Given the description of an element on the screen output the (x, y) to click on. 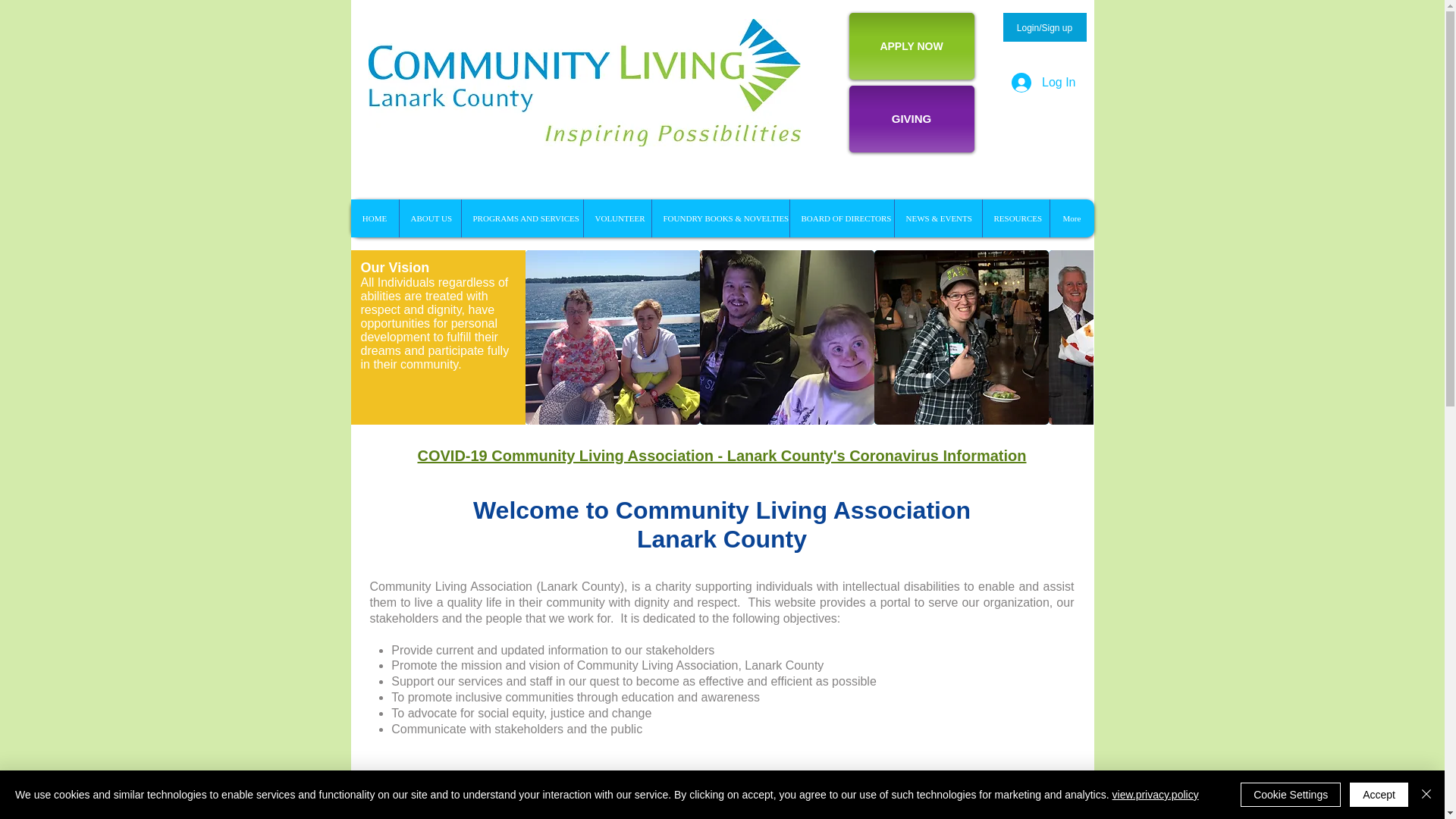
Log In (1043, 82)
PROGRAMS AND SERVICES (522, 218)
ABOUT US (429, 218)
BOARD OF DIRECTORS (841, 218)
GIVING (911, 118)
RESOURCES (1014, 218)
VOLUNTEER (616, 218)
HOME (373, 218)
APPLY NOW (911, 46)
view.privacy.policy (1155, 794)
